Given the description of an element on the screen output the (x, y) to click on. 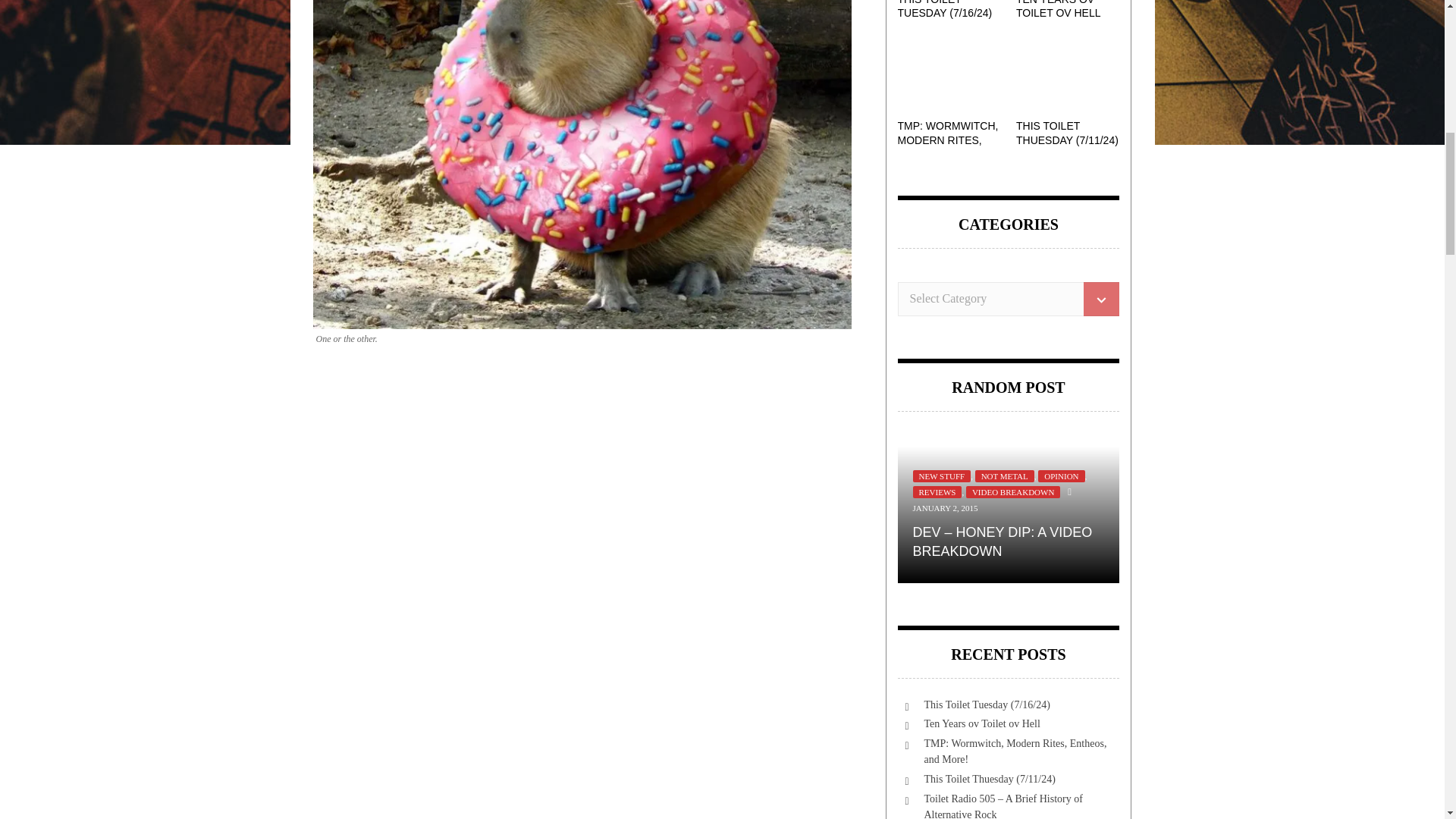
YouTube player (581, 728)
